Given the description of an element on the screen output the (x, y) to click on. 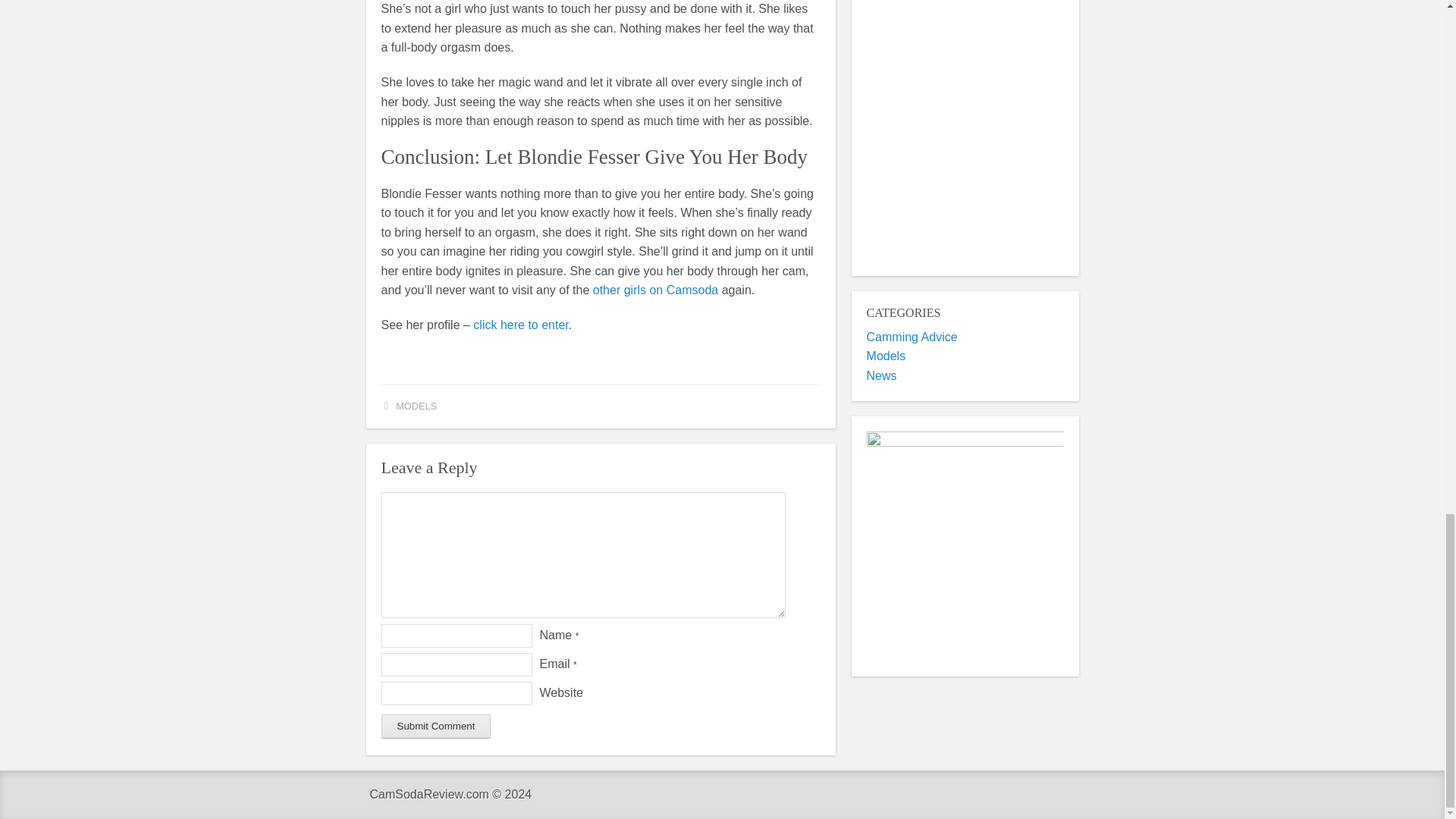
MODELS (416, 405)
Submit Comment (435, 726)
click here to enter (520, 324)
Models (885, 355)
Submit Comment (435, 726)
other girls on Camsoda (654, 289)
News (881, 375)
Camming Advice (912, 336)
